Given the description of an element on the screen output the (x, y) to click on. 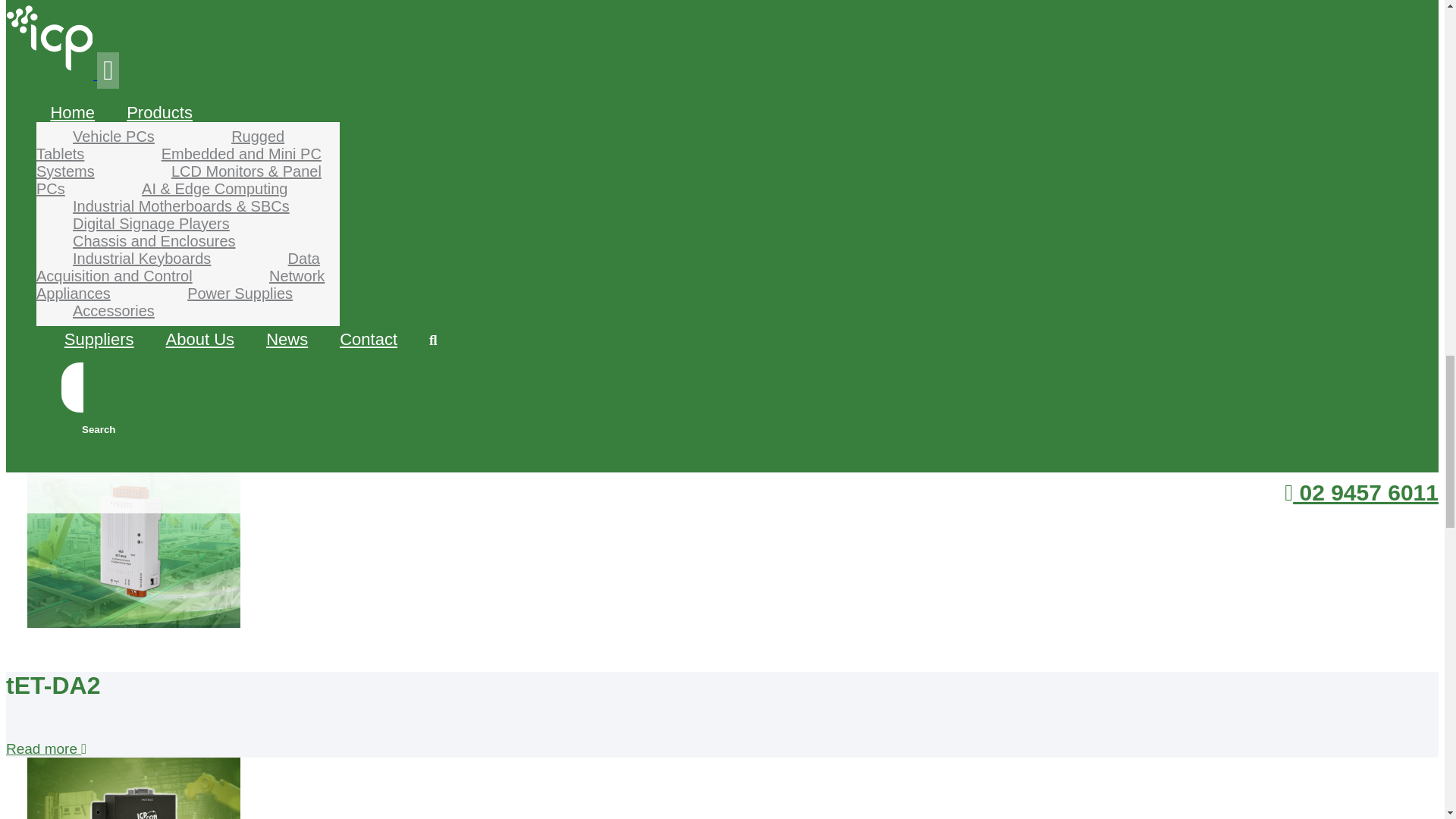
Read more (45, 448)
tGW-700 Series (128, 101)
Read more (45, 748)
